Given the description of an element on the screen output the (x, y) to click on. 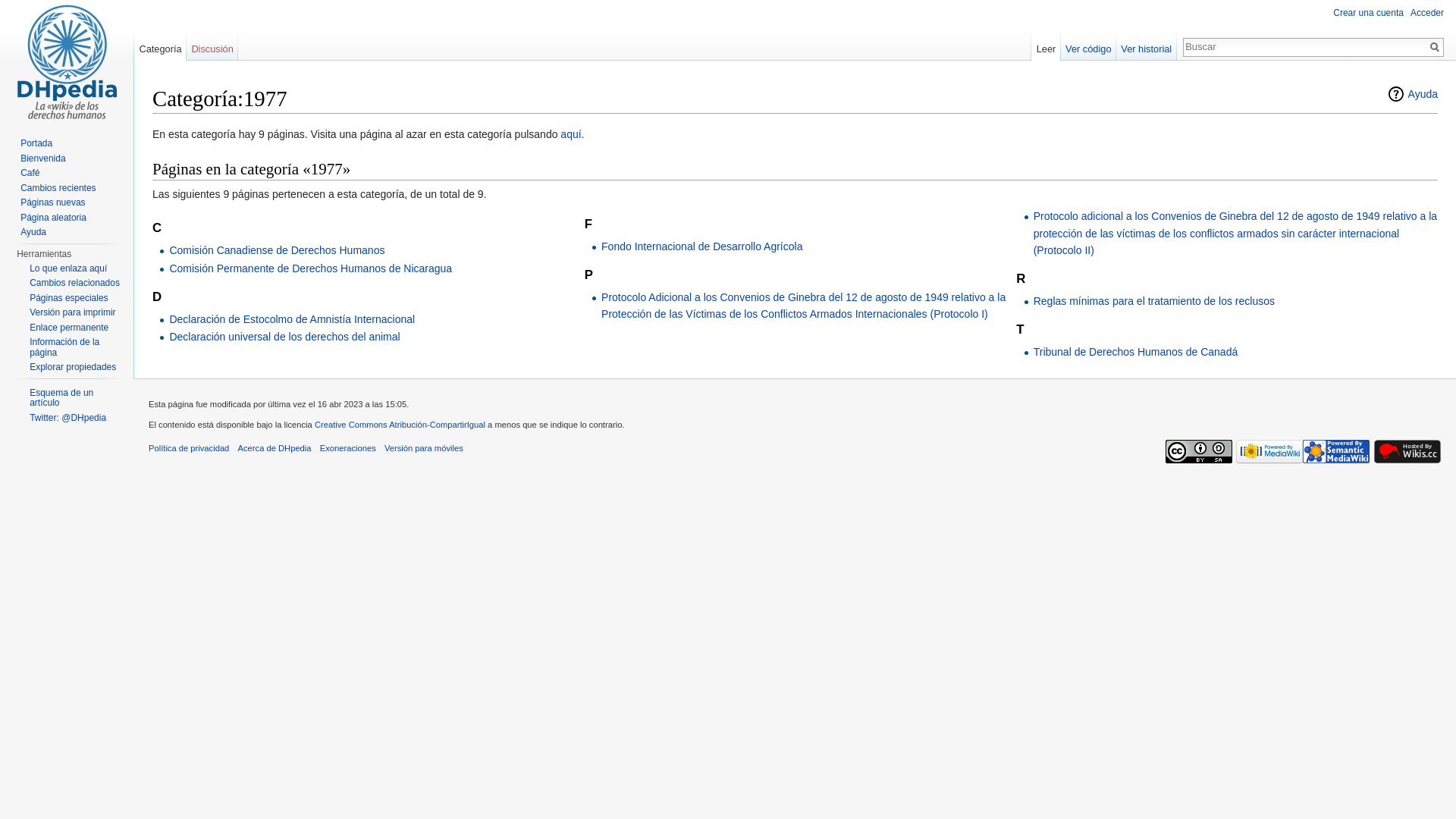
Twitter: @DHpedia Element type: text (67, 417)
Explorar propiedades Element type: text (72, 366)
Bienvenida Element type: text (42, 158)
Ayuda Element type: text (1411, 93)
Ir Element type: text (1434, 46)
Enlace permanente Element type: text (68, 326)
Leer Element type: text (1045, 45)
Ayuda Element type: text (33, 231)
Crear una cuenta Element type: text (1368, 12)
Acerca de DHpedia Element type: text (274, 447)
Cambios recientes Element type: text (57, 187)
Portada Element type: text (36, 143)
Acceder Element type: text (1426, 12)
Cambios relacionados Element type: text (74, 282)
Buscar en DHpedia [alt-shift-f] Element type: hover (1304, 45)
Ver historial Element type: text (1146, 45)
Exoneraciones Element type: text (348, 447)
